Given the description of an element on the screen output the (x, y) to click on. 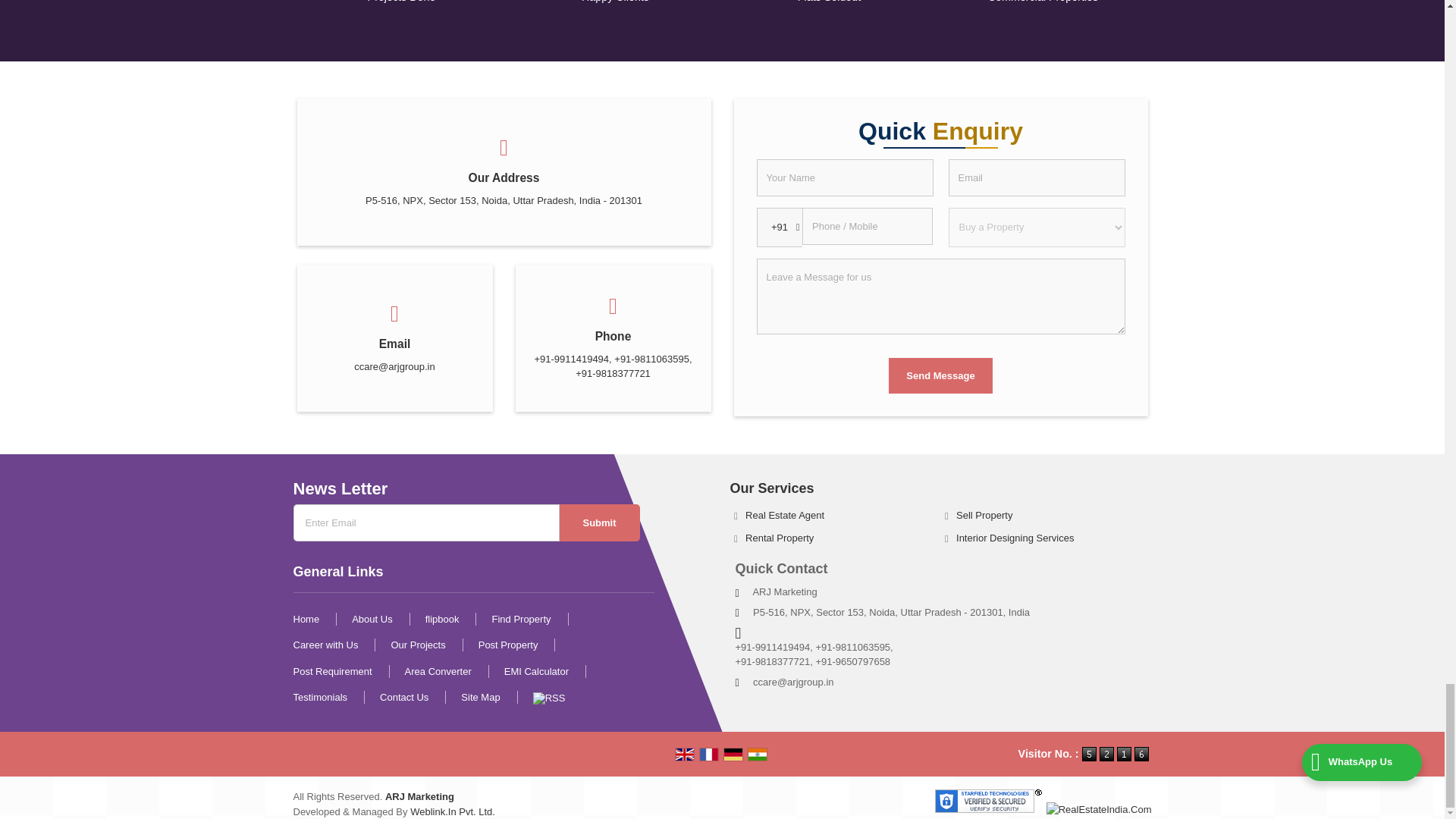
Send Message (939, 375)
Enter Email (425, 522)
Submit (599, 522)
